Given the description of an element on the screen output the (x, y) to click on. 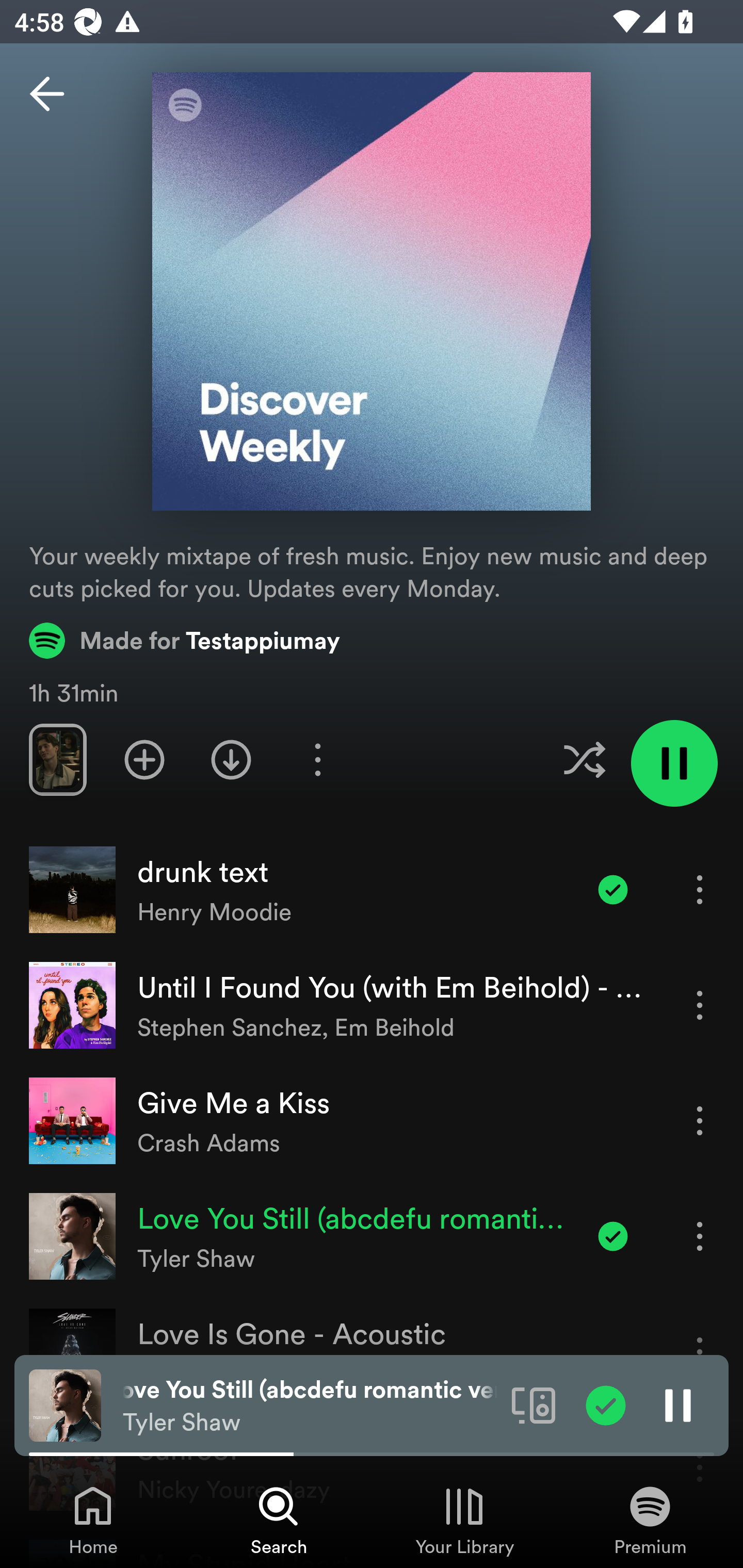
Back (46, 93)
Made for Testappiumay (184, 640)
Swipe through previews of tracks in this playlist. (57, 759)
Add playlist to Your Library (144, 759)
Download (230, 759)
More options for playlist Discover Weekly (317, 759)
Enable shuffle for this playlist (583, 759)
Pause playlist (674, 763)
Item added (612, 889)
More options for song drunk text (699, 889)
More options for song Give Me a Kiss (699, 1120)
Item added (612, 1236)
The cover art of the currently playing track (64, 1404)
Connect to a device. Opens the devices menu (533, 1404)
Item added (605, 1404)
Pause (677, 1404)
Home, Tab 1 of 4 Home Home (92, 1519)
Search, Tab 2 of 4 Search Search (278, 1519)
Your Library, Tab 3 of 4 Your Library Your Library (464, 1519)
Premium, Tab 4 of 4 Premium Premium (650, 1519)
